Given the description of an element on the screen output the (x, y) to click on. 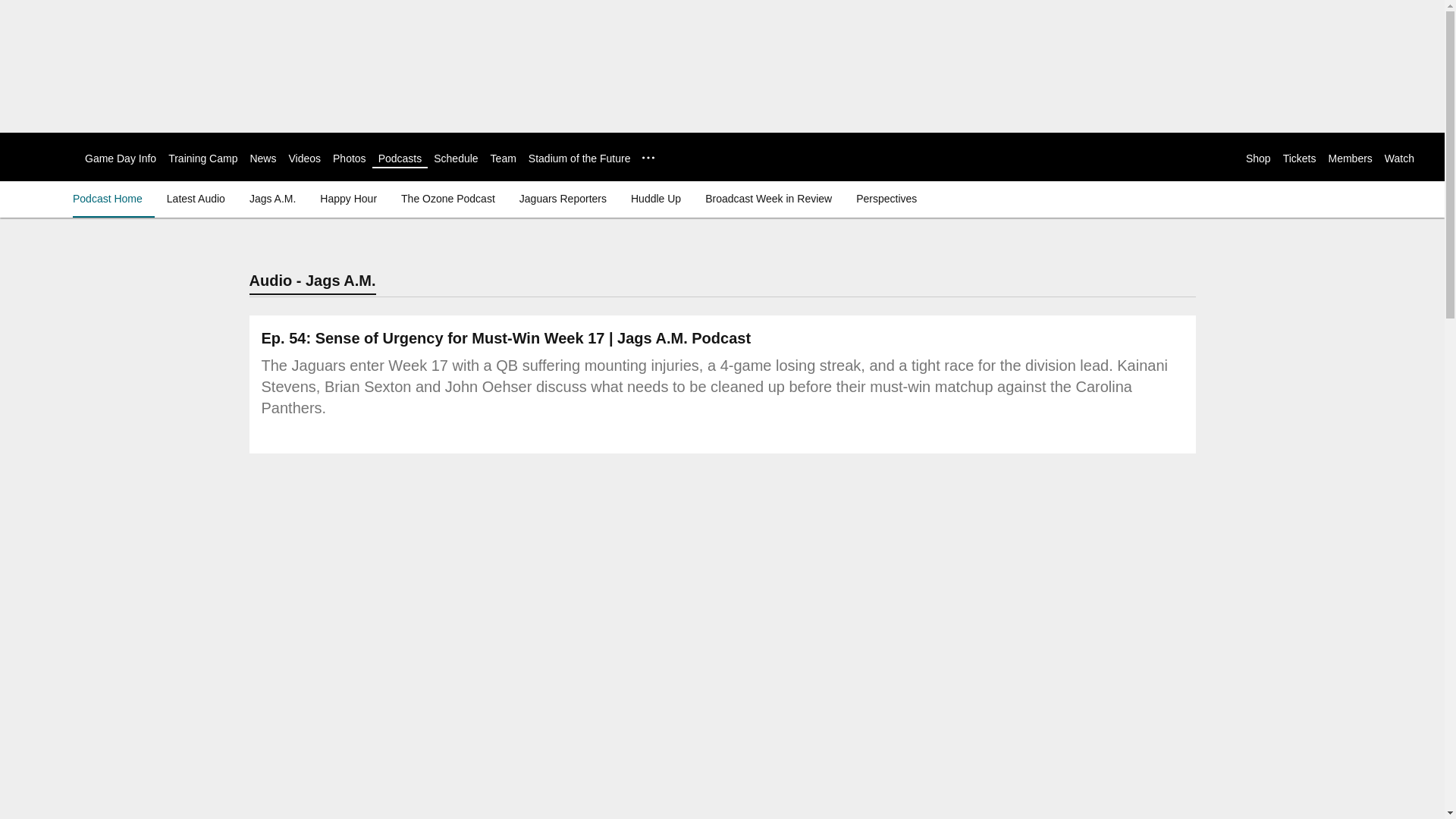
Happy Hour (348, 198)
Stadium of the Future (579, 158)
Podcasts (400, 158)
Training Camp (202, 158)
Shop (1258, 158)
Watch (1398, 158)
News (262, 158)
Schedule (455, 158)
Stadium of the Future (579, 158)
Perspectives (886, 198)
